Given the description of an element on the screen output the (x, y) to click on. 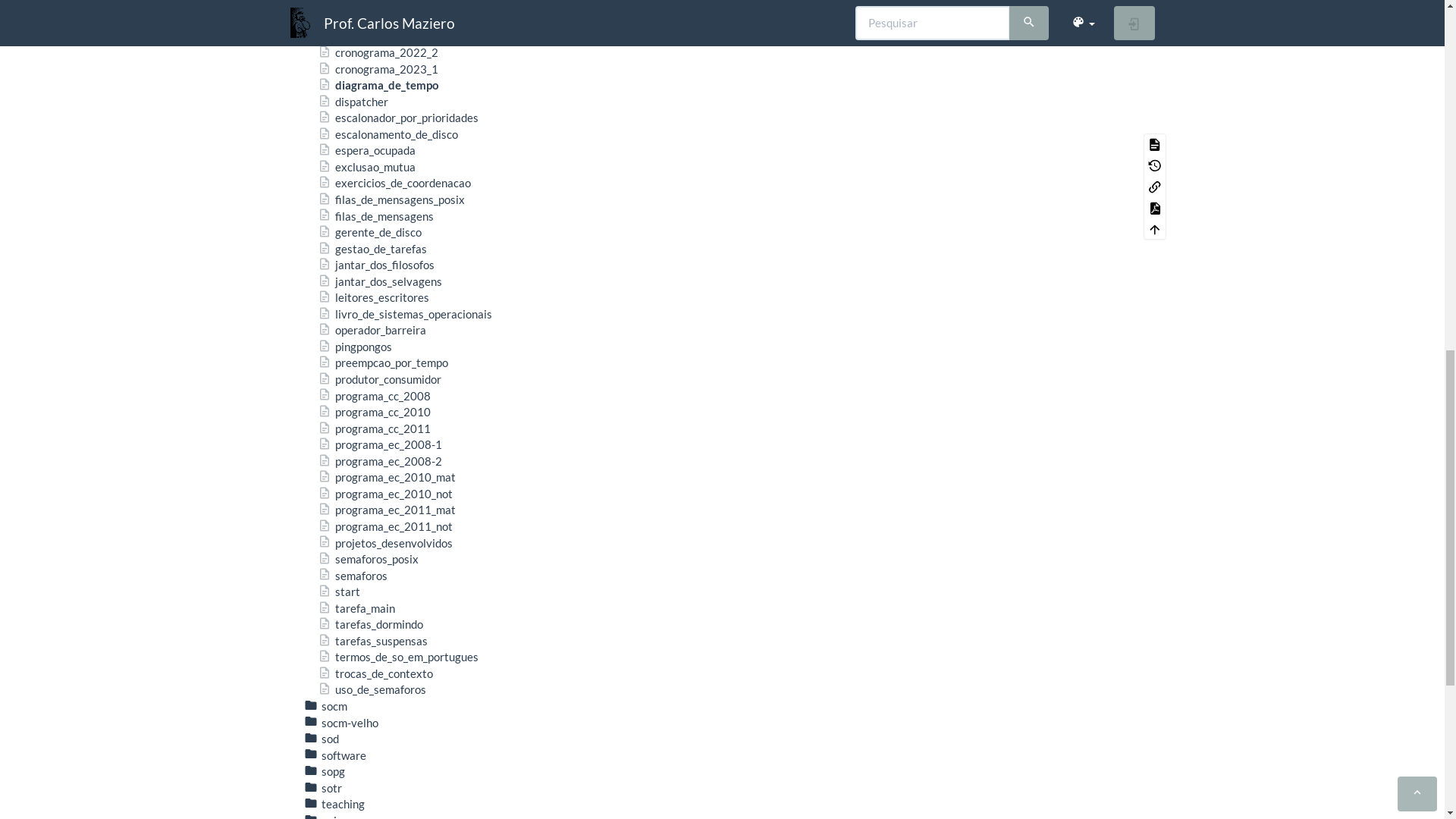
cronograma_2015-1 Element type: text (376, 717)
espec Element type: text (326, 259)
cronograma_2019-1 Element type: text (376, 765)
c Element type: text (314, 243)
calculo_de_pi_com_threads Element type: text (391, 504)
criacao_de_processos Element type: text (379, 586)
cronograma_2013-2 Element type: text (376, 667)
prog2 Element type: text (326, 357)
prog1 Element type: text (326, 341)
cronograma_2017-2 Element type: text (376, 749)
playground Element type: text (339, 325)
alg1 Element type: text (322, 226)
research Element type: text (333, 390)
pua Element type: text (320, 373)
compromisso_ec Element type: text (366, 553)
cronograma_2012-2 Element type: text (376, 635)
so Element type: text (317, 438)
fso Element type: text (319, 275)
cronograma_2013-1 Element type: text (376, 651)
cronograma_2014-1 Element type: text (376, 684)
cronograma_2020_ere1 Element type: text (385, 798)
sas Element type: text (320, 406)
cronograma_2020_2 Element type: text (376, 782)
genealogy Element type: text (337, 308)
celula_flexivel_de_manufatura Element type: text (400, 520)
compromisso_cc Element type: text (365, 537)
sc Element type: text (317, 422)
contabilizacao Element type: text (361, 570)
algoritmos_de_substituicao_de_paginas Element type: text (423, 471)
cronograma_2012-1 Element type: text (376, 618)
algoritmos_de_escalonamento Element type: text (400, 455)
agsrc Element type: text (325, 210)
cronograma_2016-2 Element type: text (376, 733)
cronograma_2014-2 Element type: text (376, 700)
criacao_de_threads Element type: text (373, 602)
biblioteca_de_filas Element type: text (371, 488)
gcsi Element type: text (321, 291)
